Given the description of an element on the screen output the (x, y) to click on. 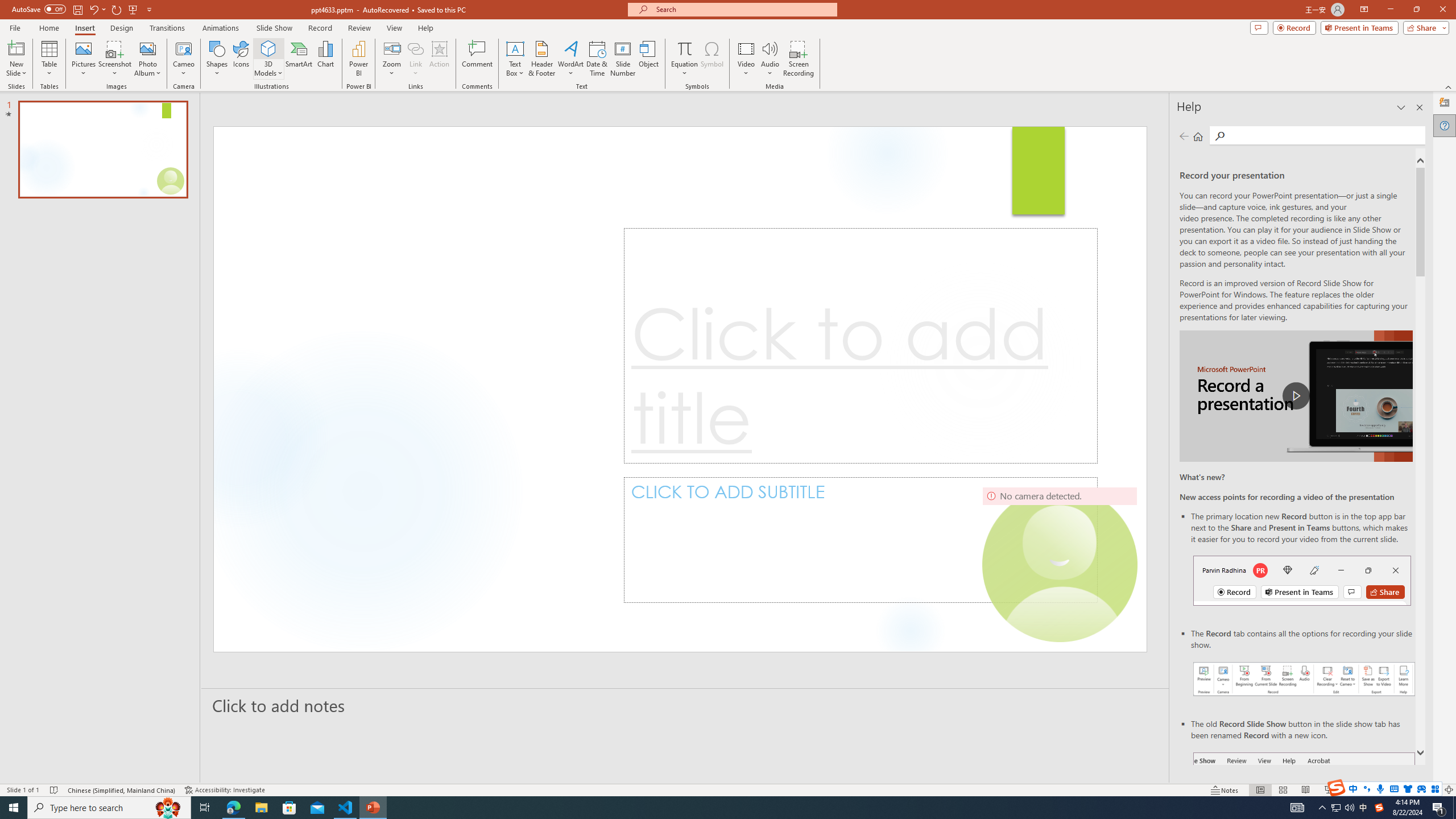
Chart... (325, 58)
Photo Album... (147, 58)
Link (415, 48)
Cameo (183, 58)
Previous page (1183, 136)
Draw Horizontal Text Box (515, 48)
Screenshot (114, 58)
